Given the description of an element on the screen output the (x, y) to click on. 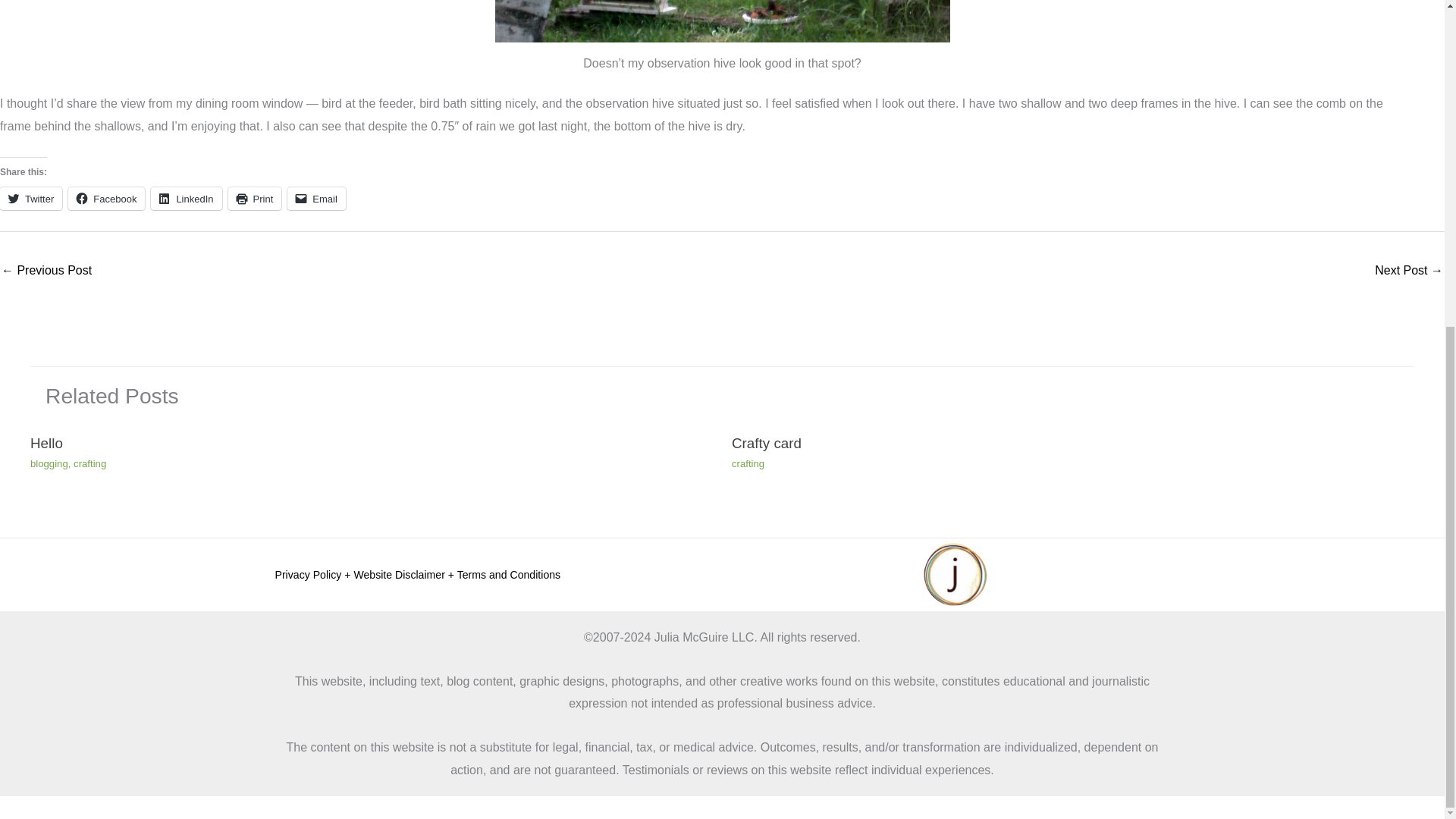
Hello (46, 442)
Facebook (106, 198)
Twitter (31, 198)
Click to print (255, 198)
blogging (49, 463)
Click to share on Facebook (106, 198)
Click to share on LinkedIn (186, 198)
Filling the backyard without beehives (46, 271)
Click to email a link to a friend (316, 198)
Email (316, 198)
